Given the description of an element on the screen output the (x, y) to click on. 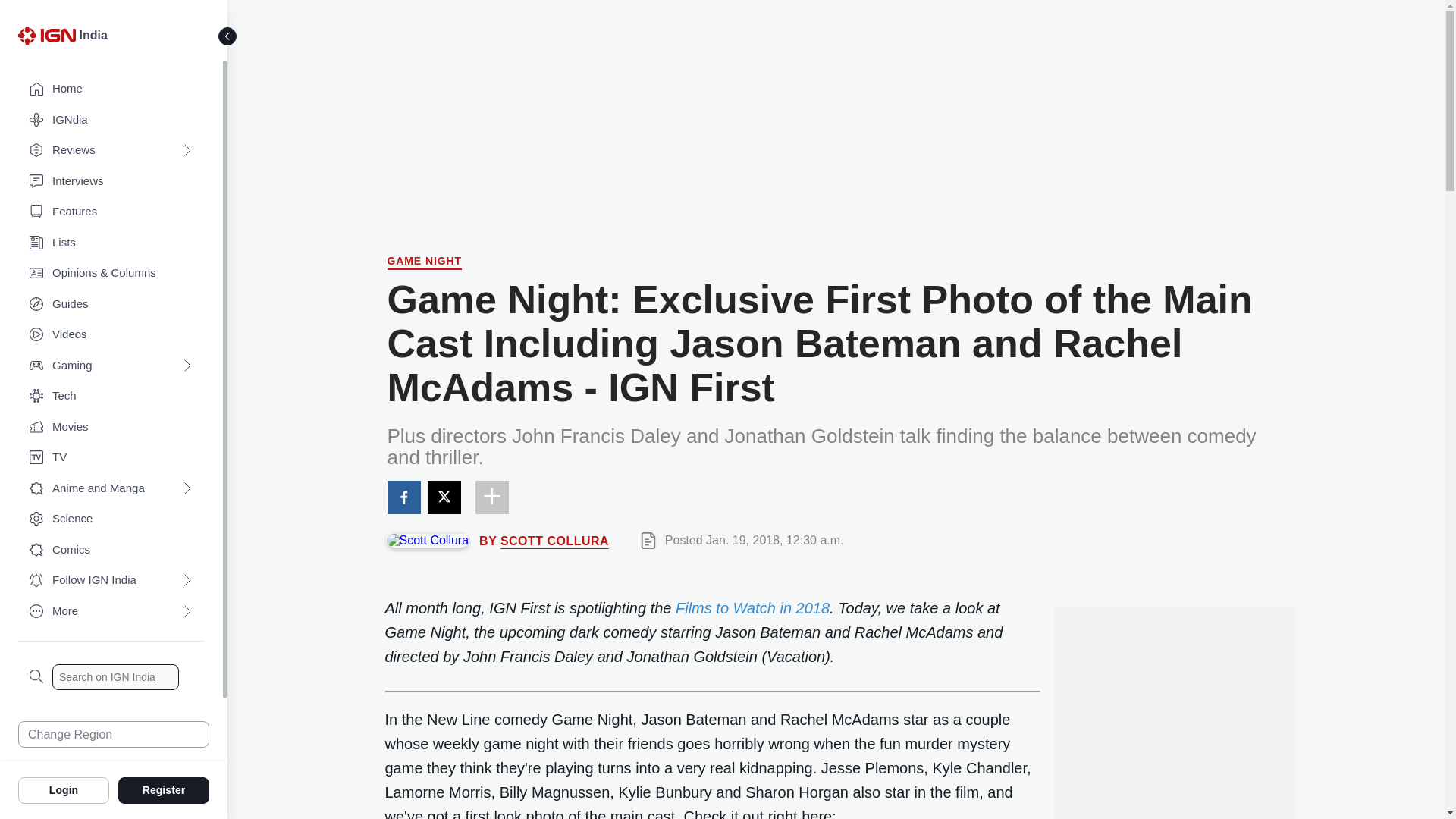
Interviews (111, 181)
More (111, 610)
Science (111, 518)
TV (111, 457)
Guides (111, 304)
Reviews (111, 150)
Tech (111, 396)
Follow IGN India (111, 580)
IGN Logo (48, 39)
Videos (111, 334)
Anime and Manga (111, 487)
Comics (111, 550)
Lists (111, 242)
Home (111, 89)
Features (111, 211)
